Given the description of an element on the screen output the (x, y) to click on. 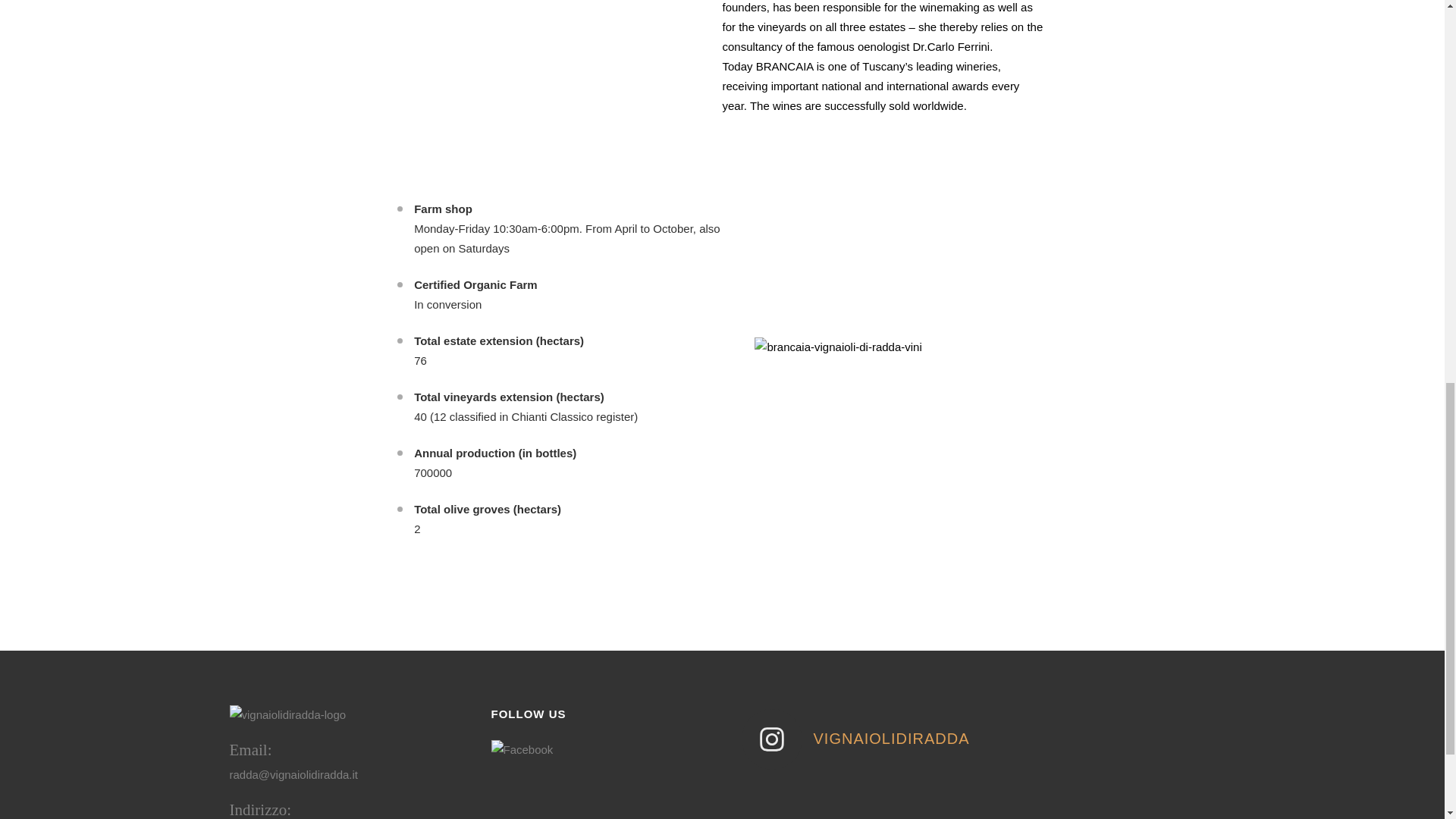
VIGNAIOLIDIRADDA (856, 739)
